Given the description of an element on the screen output the (x, y) to click on. 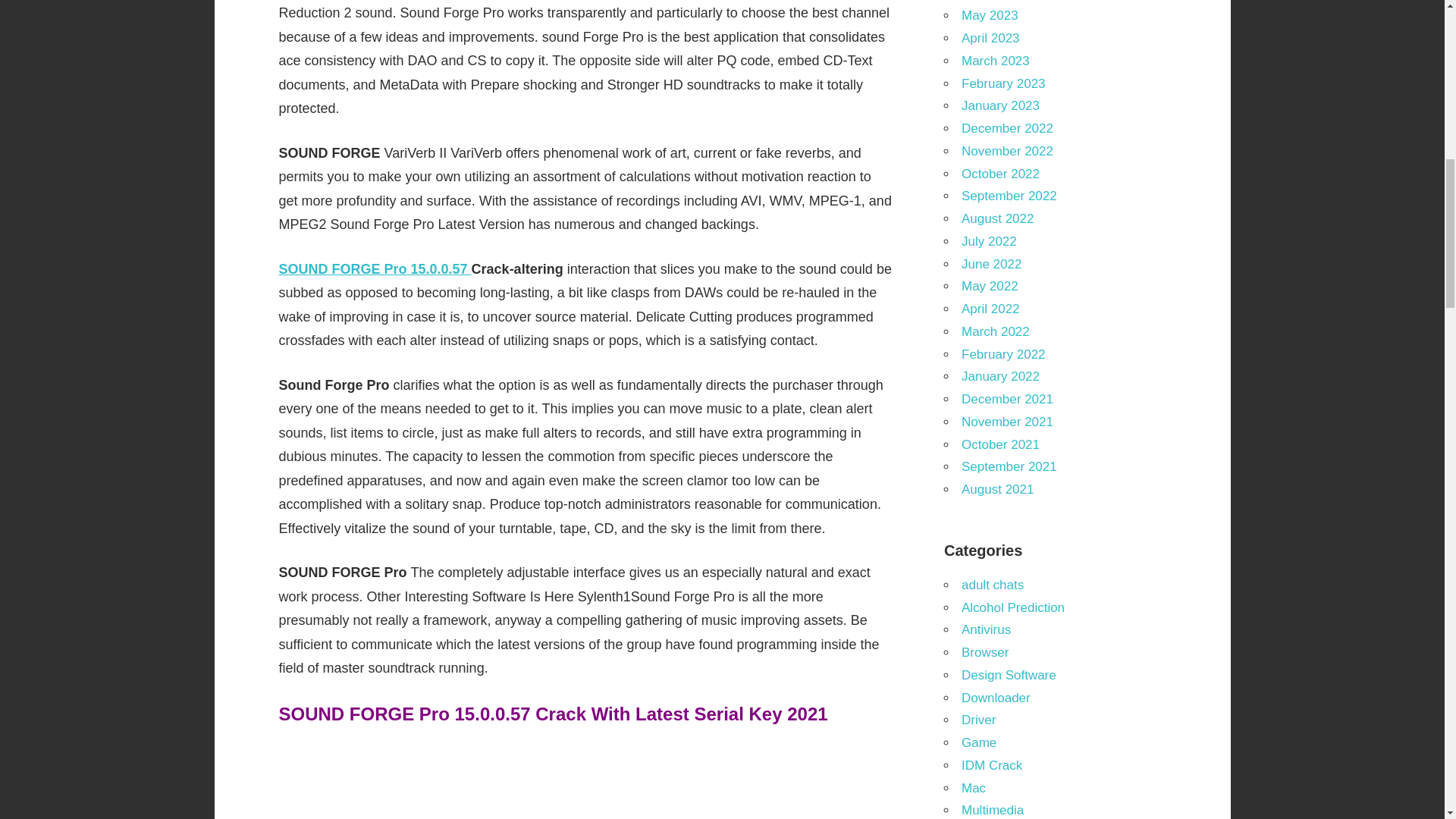
March 2023 (994, 60)
June 2023 (991, 0)
April 2023 (990, 38)
SOUND FORGE Pro 15.0.0.57 (375, 268)
February 2023 (1002, 83)
May 2023 (988, 15)
